Given the description of an element on the screen output the (x, y) to click on. 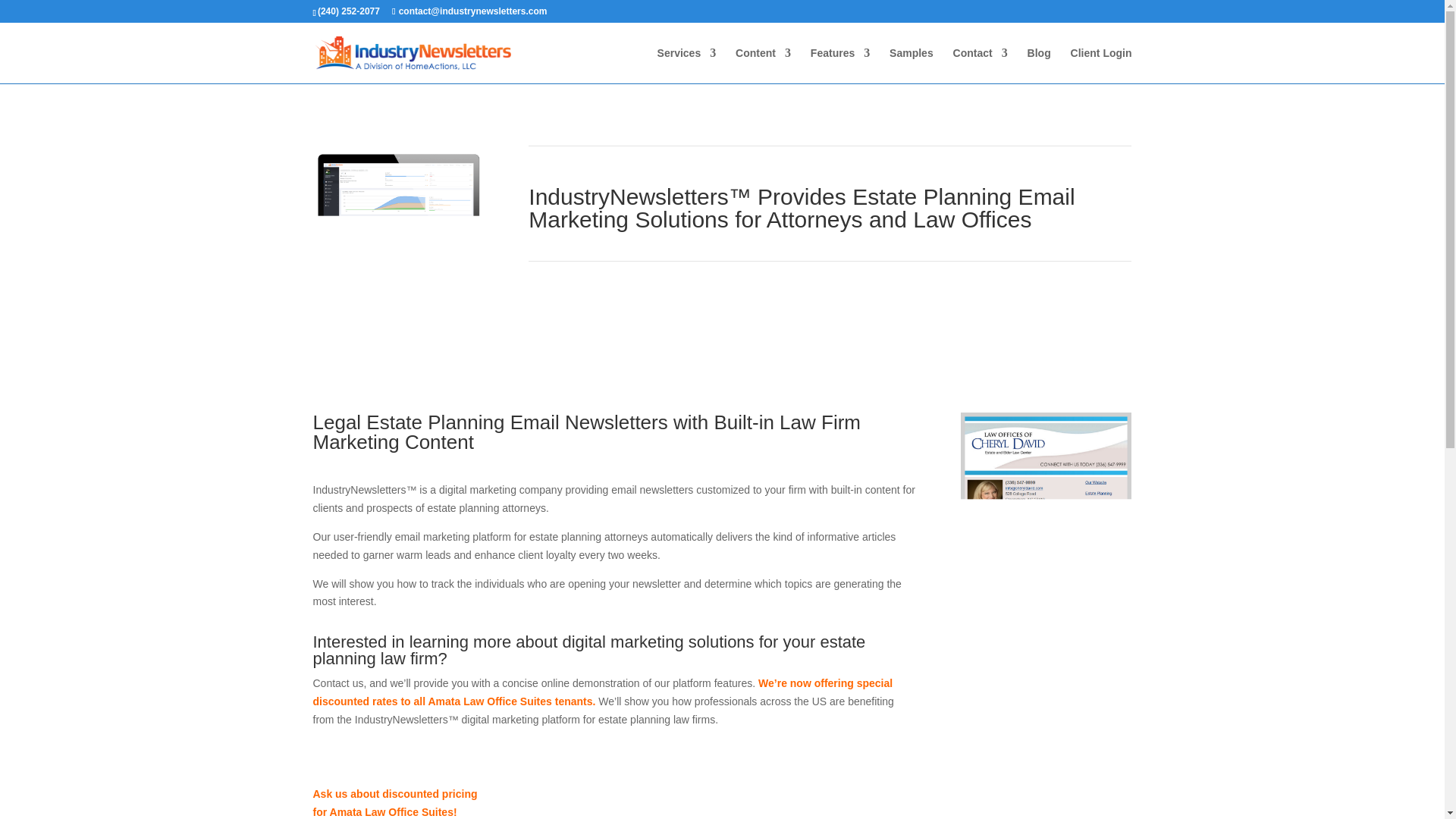
Client Login (1101, 65)
Content (762, 65)
Features (839, 65)
Services (687, 65)
Contact (980, 65)
Samples (911, 65)
Blog (1039, 65)
